Given the description of an element on the screen output the (x, y) to click on. 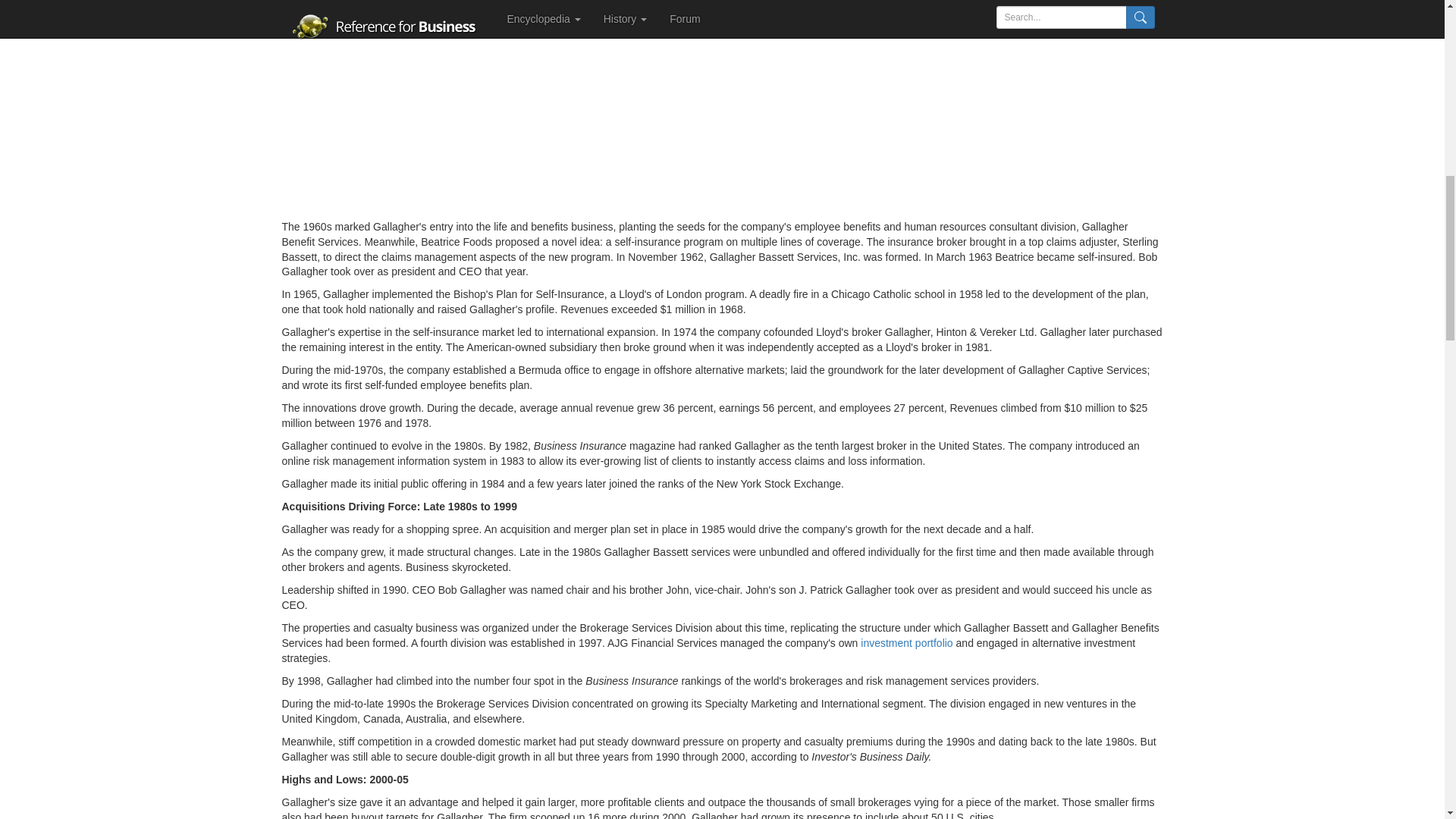
investment portfolio (906, 643)
View 'investment portfolio' definition from Wikipedia (906, 643)
